Given the description of an element on the screen output the (x, y) to click on. 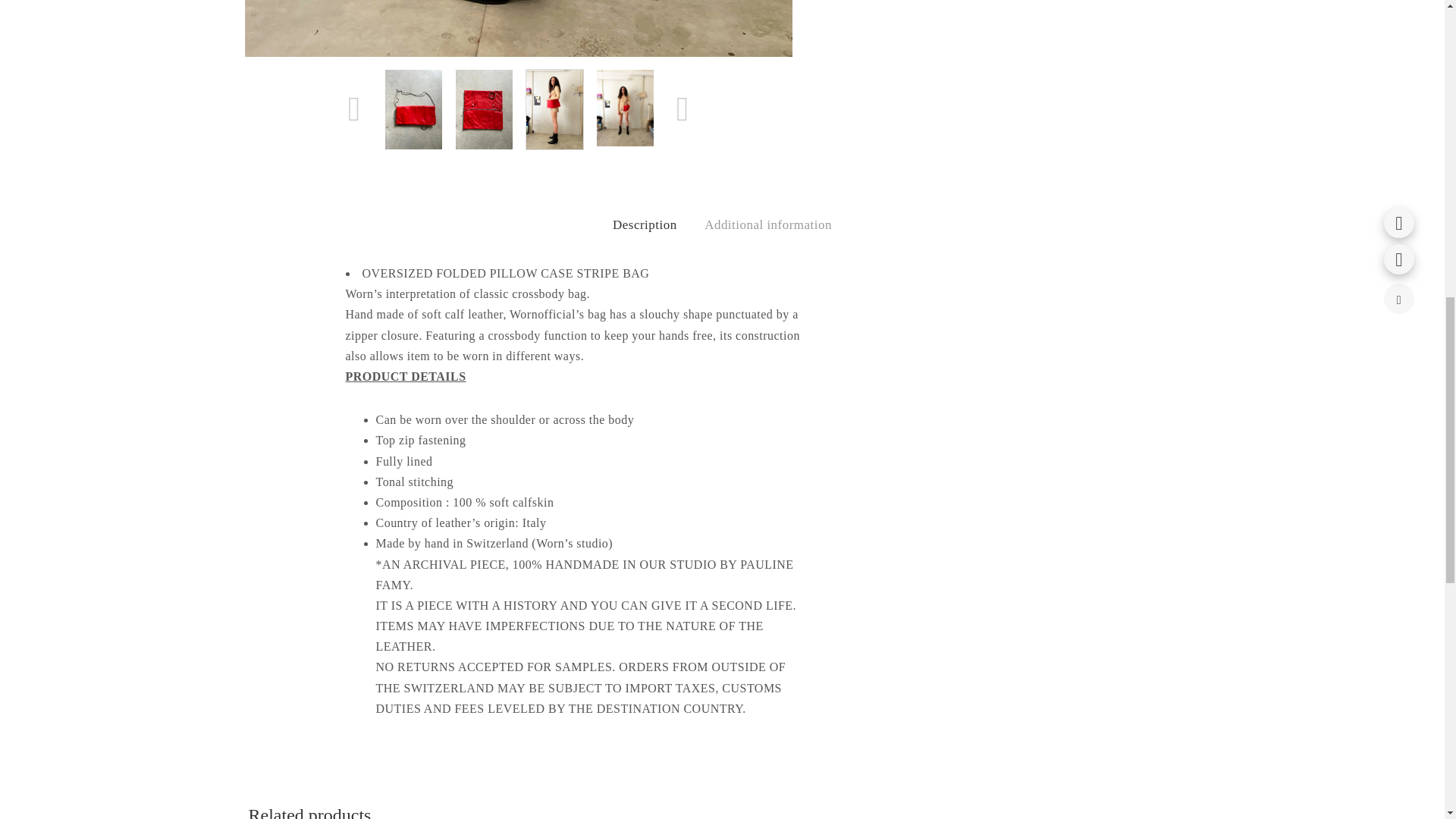
OVERSIZED-PILLOWCASE-FOLDED-BAG1 (518, 28)
